Given the description of an element on the screen output the (x, y) to click on. 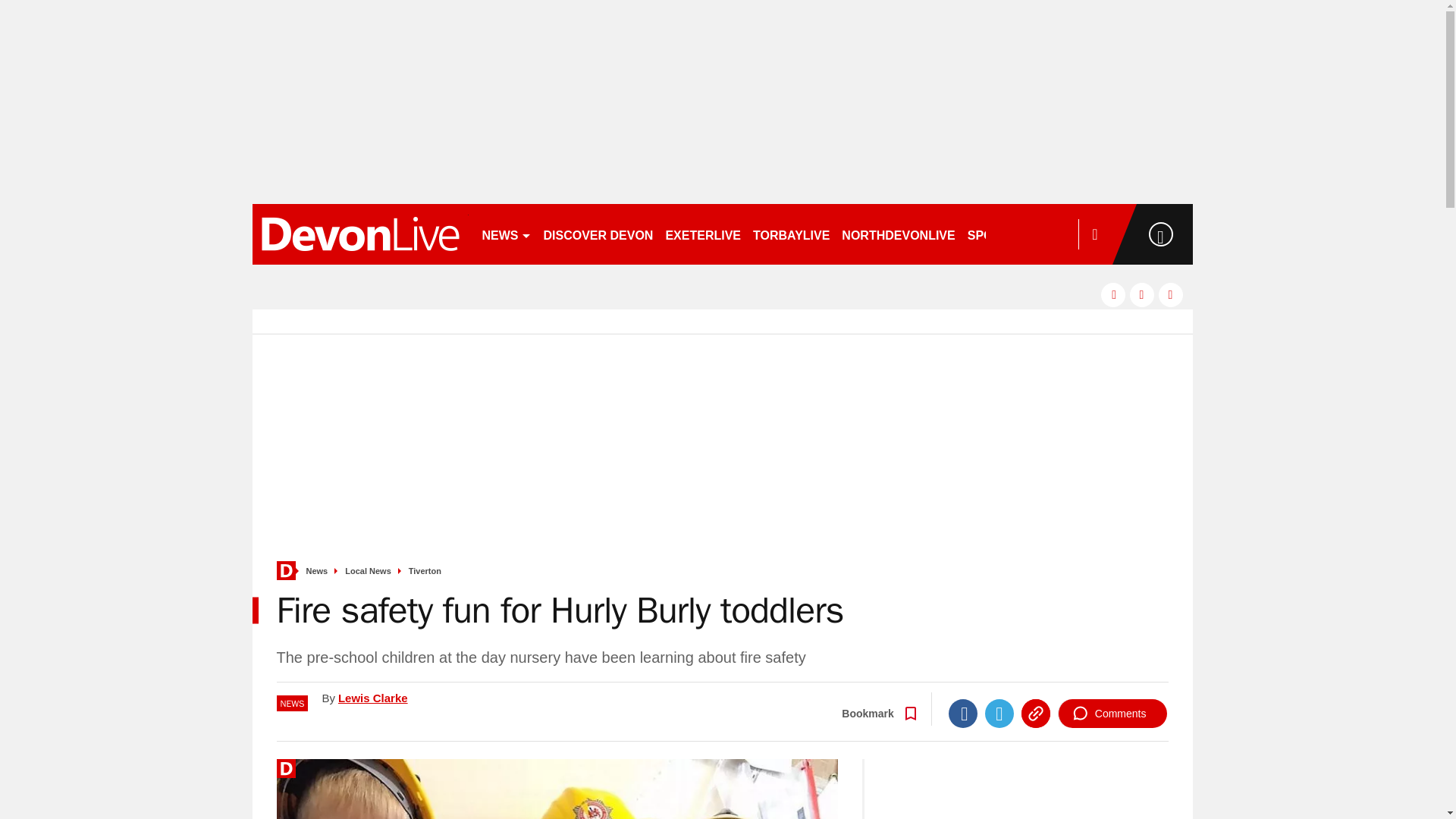
devonlive (359, 233)
Twitter (999, 713)
NEWS (506, 233)
NORTHDEVONLIVE (897, 233)
TORBAYLIVE (790, 233)
DISCOVER DEVON (598, 233)
instagram (1170, 294)
twitter (1141, 294)
Comments (1112, 713)
Facebook (962, 713)
